Given the description of an element on the screen output the (x, y) to click on. 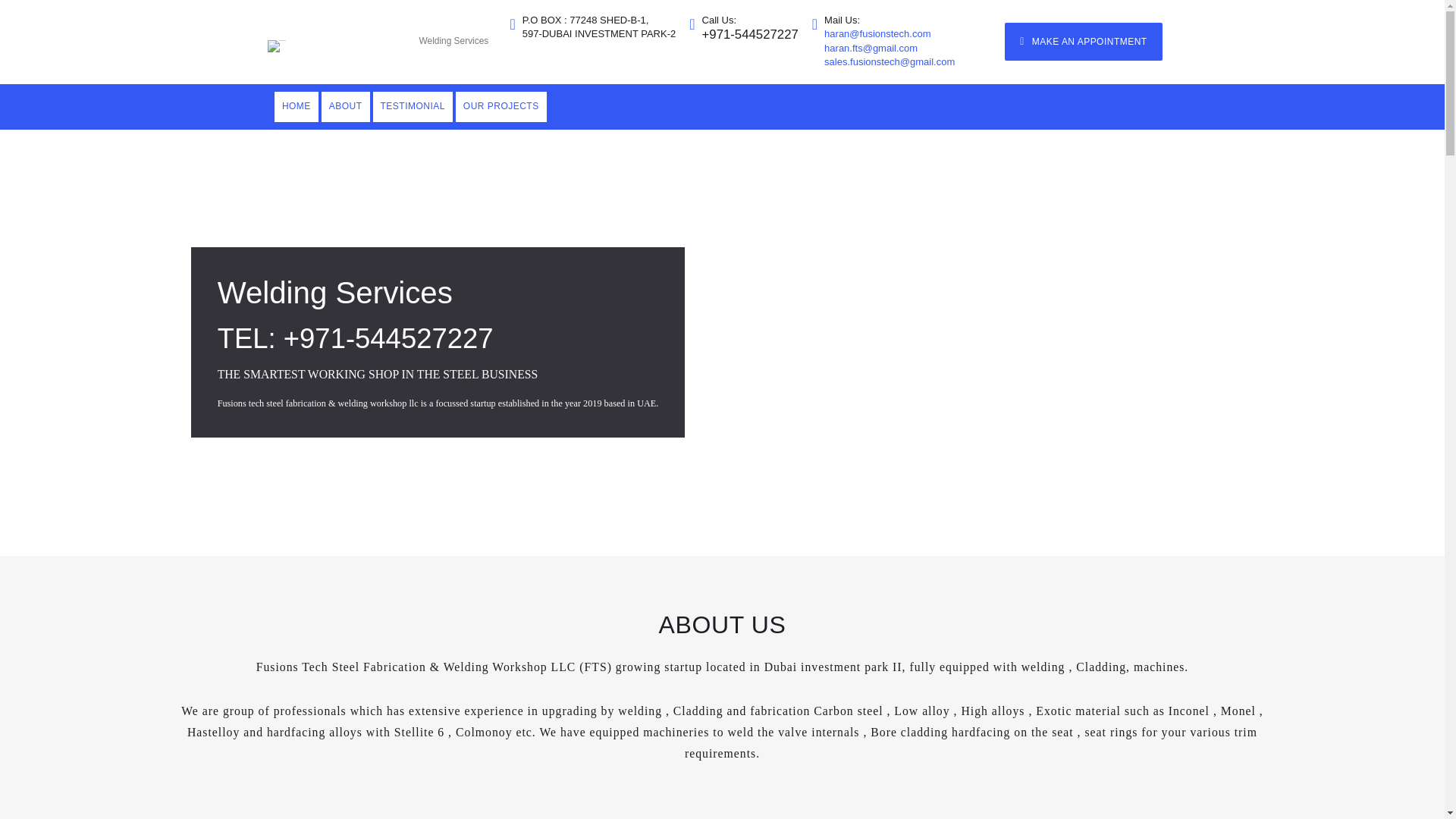
MAKE AN APPOINTMENT (1082, 41)
OUR PROJECTS (501, 106)
HOME (296, 106)
TESTIMONIAL (412, 106)
ABOUT (345, 106)
